Given the description of an element on the screen output the (x, y) to click on. 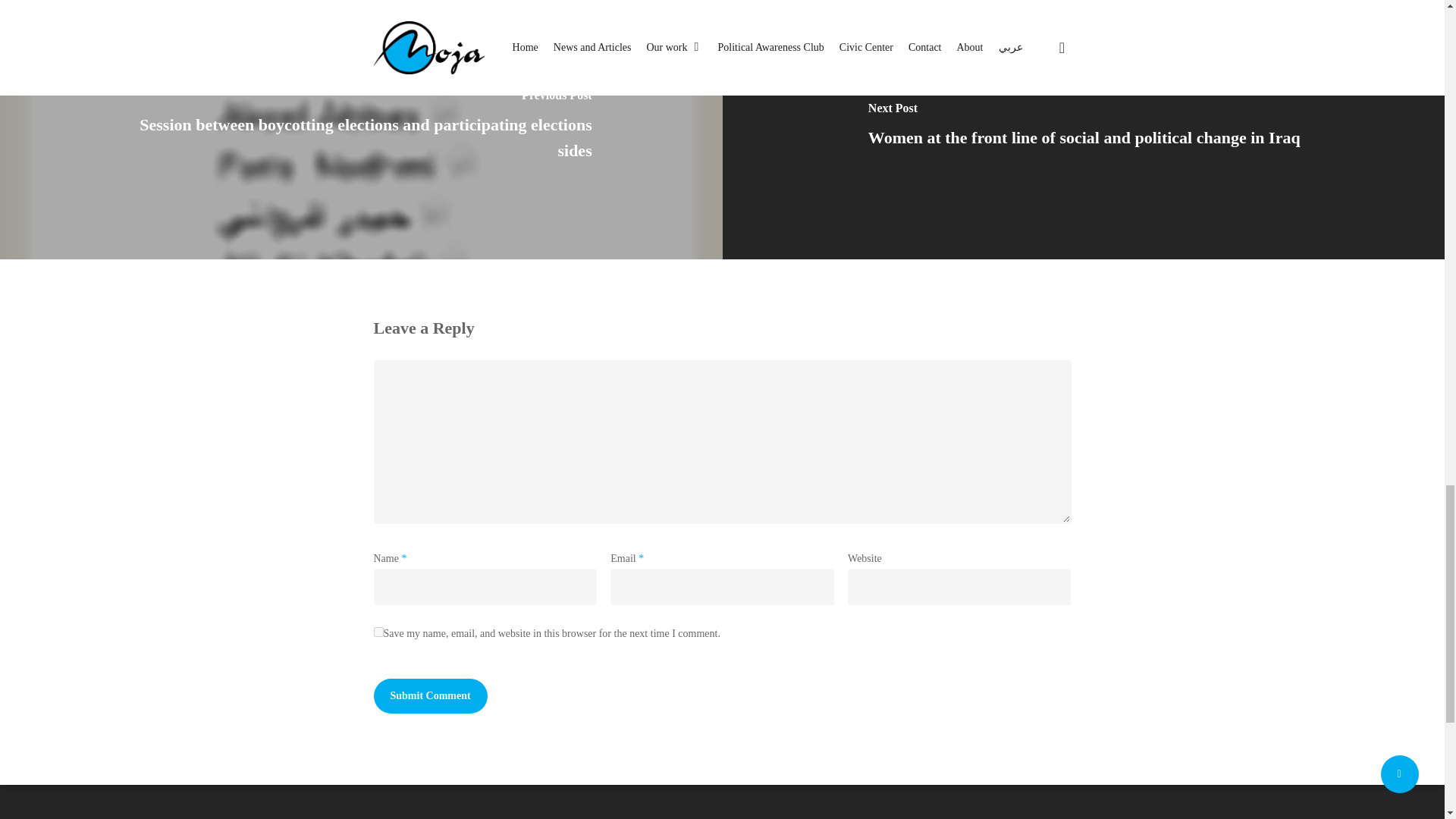
Submit Comment (429, 695)
Submit Comment (429, 695)
yes (377, 632)
